Given the description of an element on the screen output the (x, y) to click on. 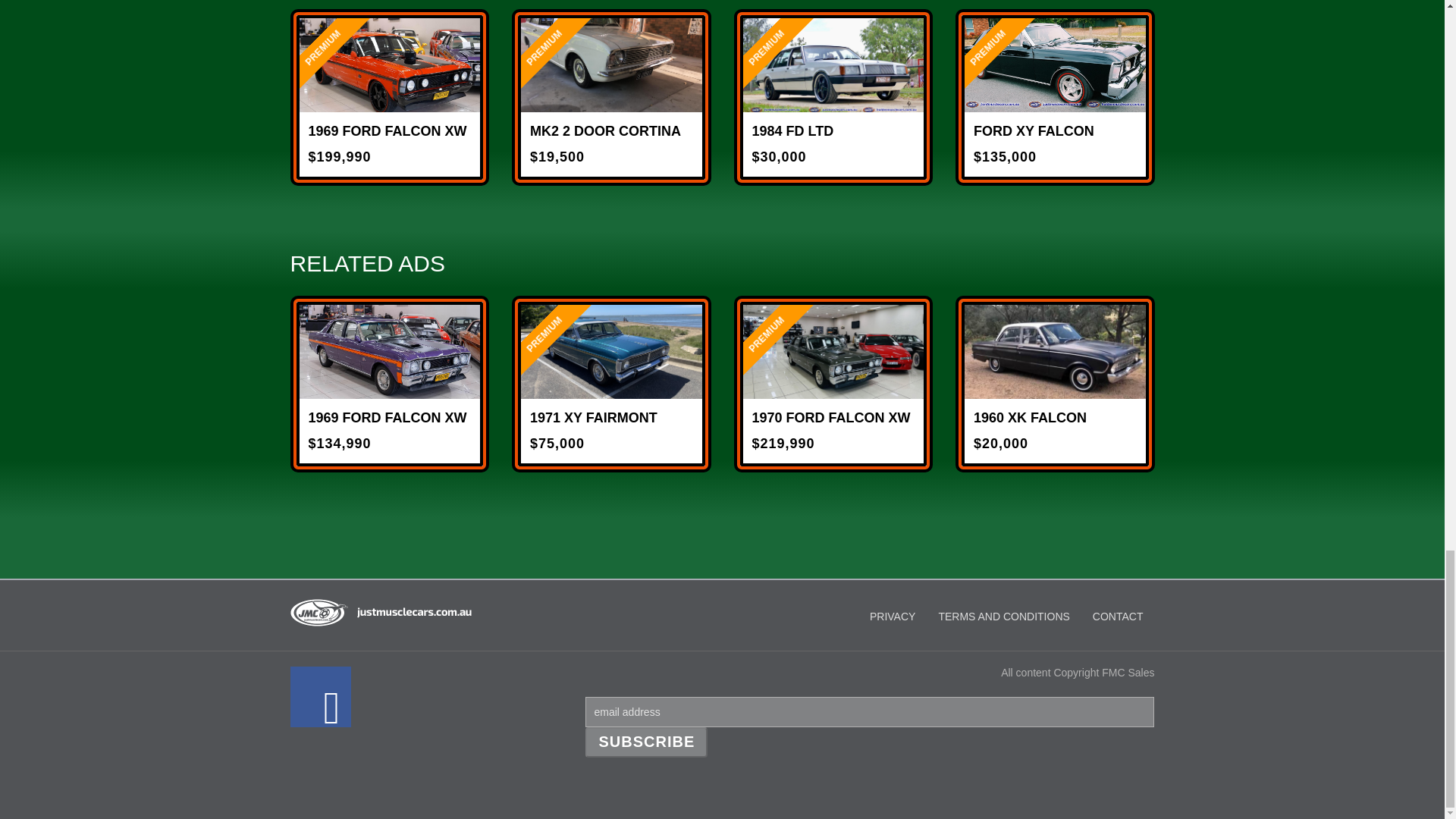
Subscribe (646, 742)
